Given the description of an element on the screen output the (x, y) to click on. 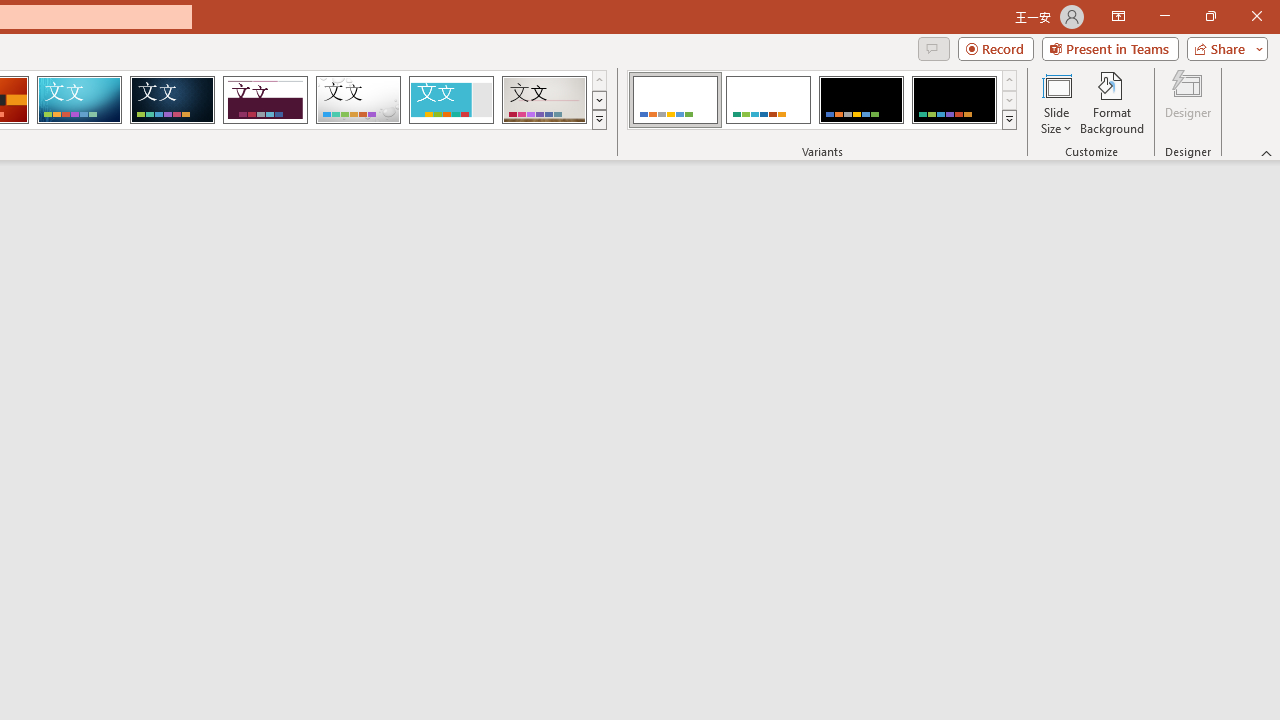
Office Theme Variant 2 (768, 100)
Damask Loading Preview... (171, 100)
Dividend Loading Preview... (265, 100)
Gallery Loading Preview... (544, 100)
AutomationID: ThemeVariantsGallery (822, 99)
Droplet Loading Preview... (358, 100)
Office Theme Variant 1 (674, 100)
Designer (1188, 102)
